Given the description of an element on the screen output the (x, y) to click on. 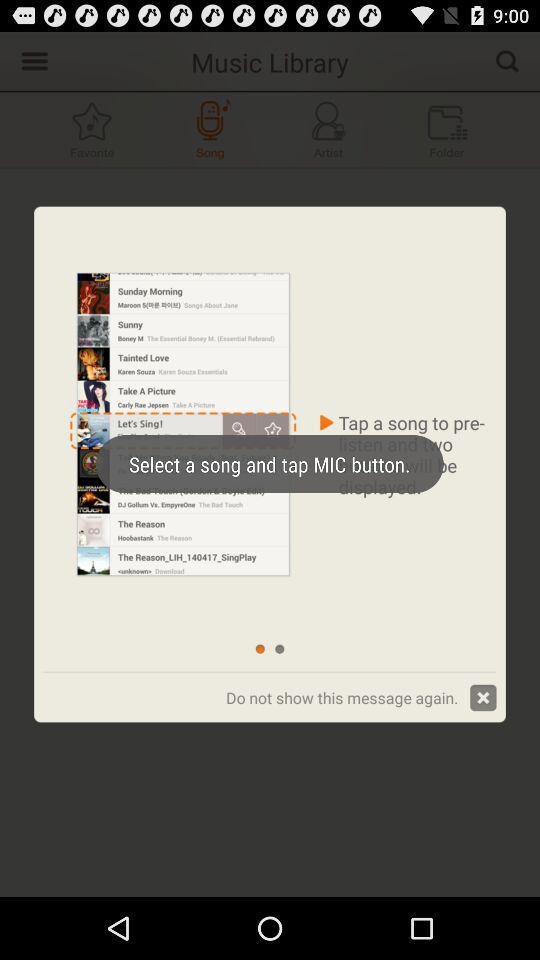
voice recorded (210, 129)
